Given the description of an element on the screen output the (x, y) to click on. 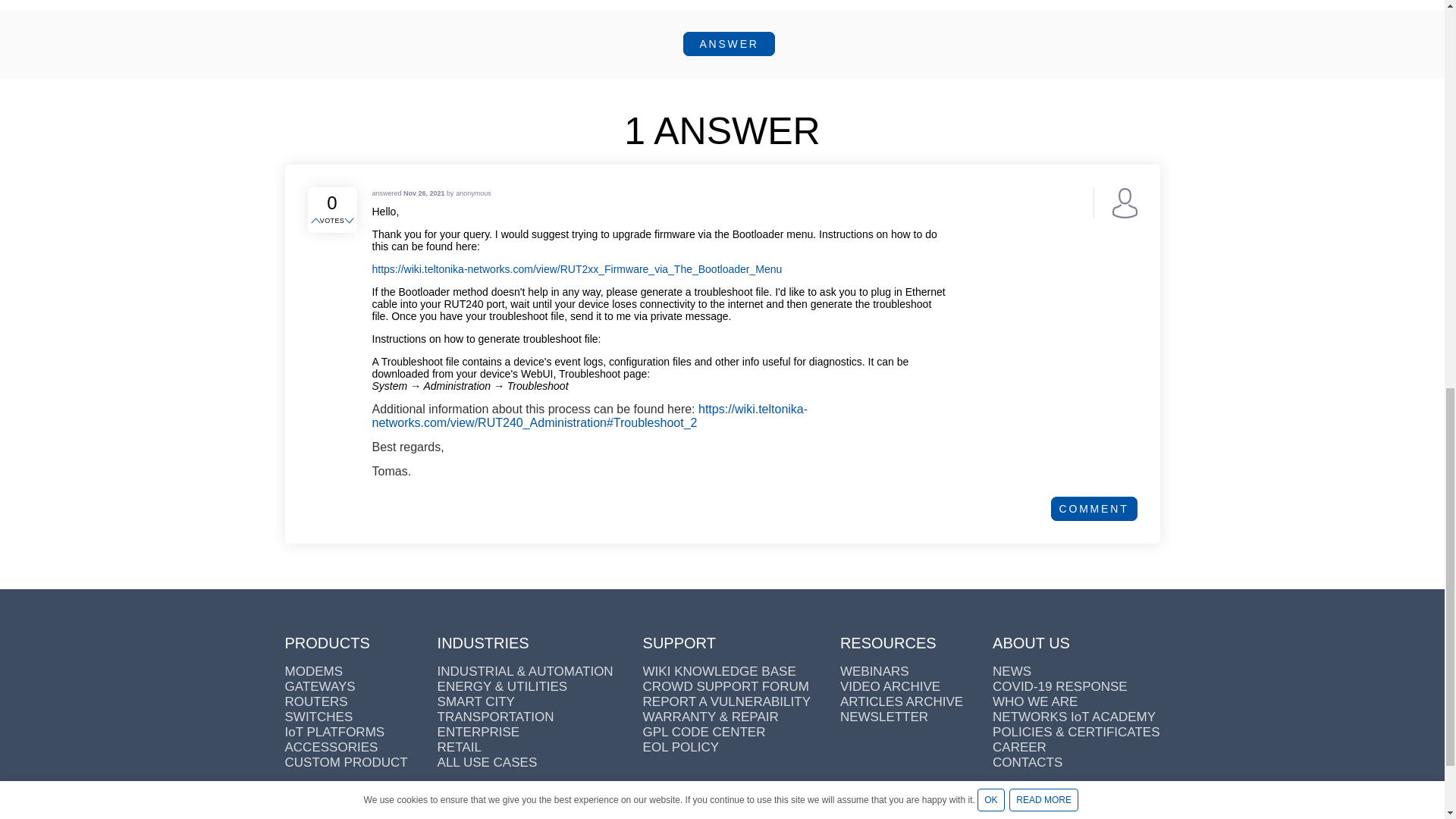
answer (728, 43)
Click to vote up (317, 221)
comment (1094, 508)
Click to vote down (349, 221)
Answer this question (728, 43)
Add a comment on this answer (1094, 508)
